Given the description of an element on the screen output the (x, y) to click on. 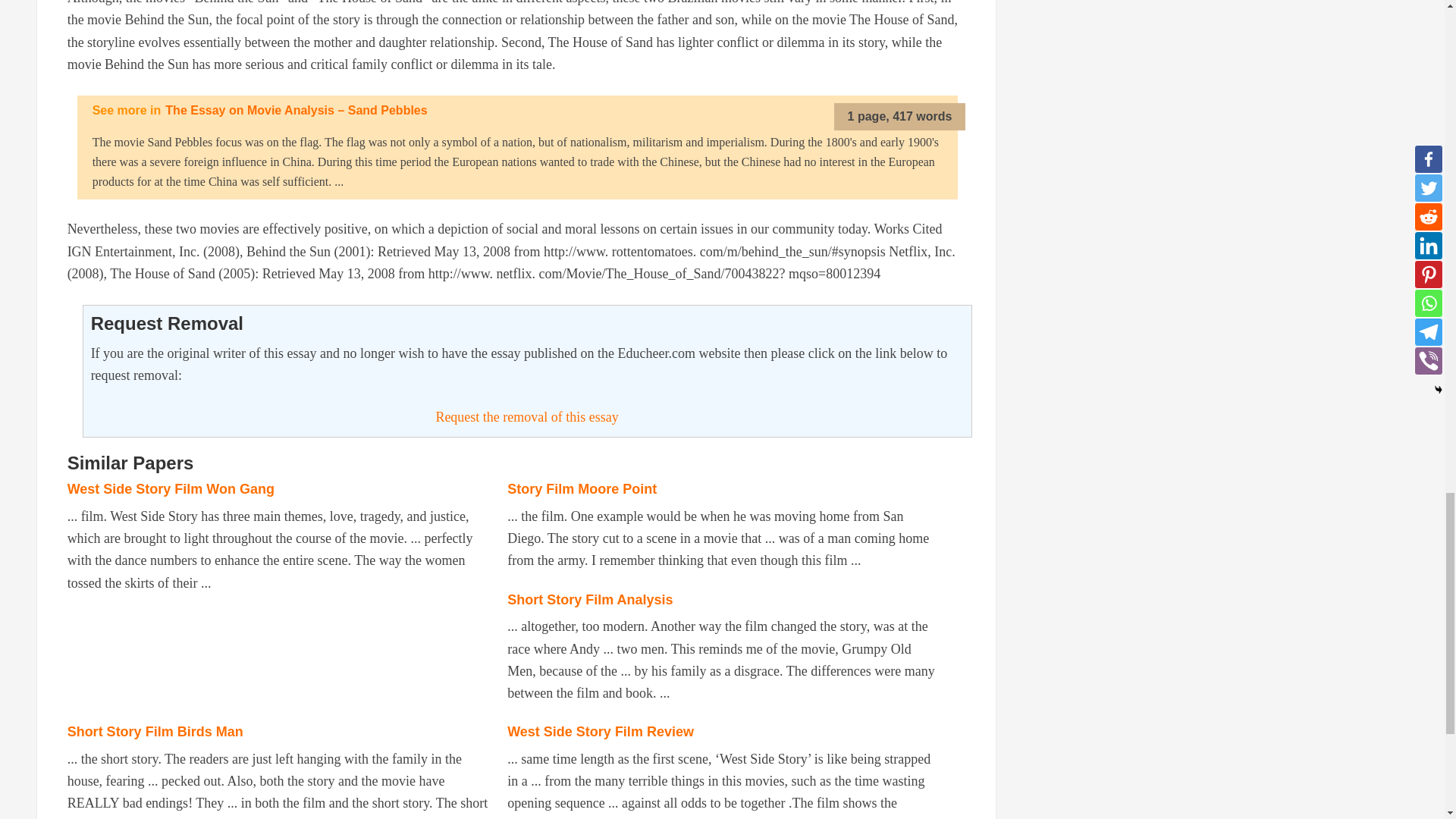
Request the removal of this essay (526, 417)
West Side Story Film Won Gang (170, 488)
West Side Story Film Review (600, 731)
Short Story Film Birds Man (154, 731)
Short Story Film Analysis (589, 599)
Story Film Moore Point (581, 488)
